Given the description of an element on the screen output the (x, y) to click on. 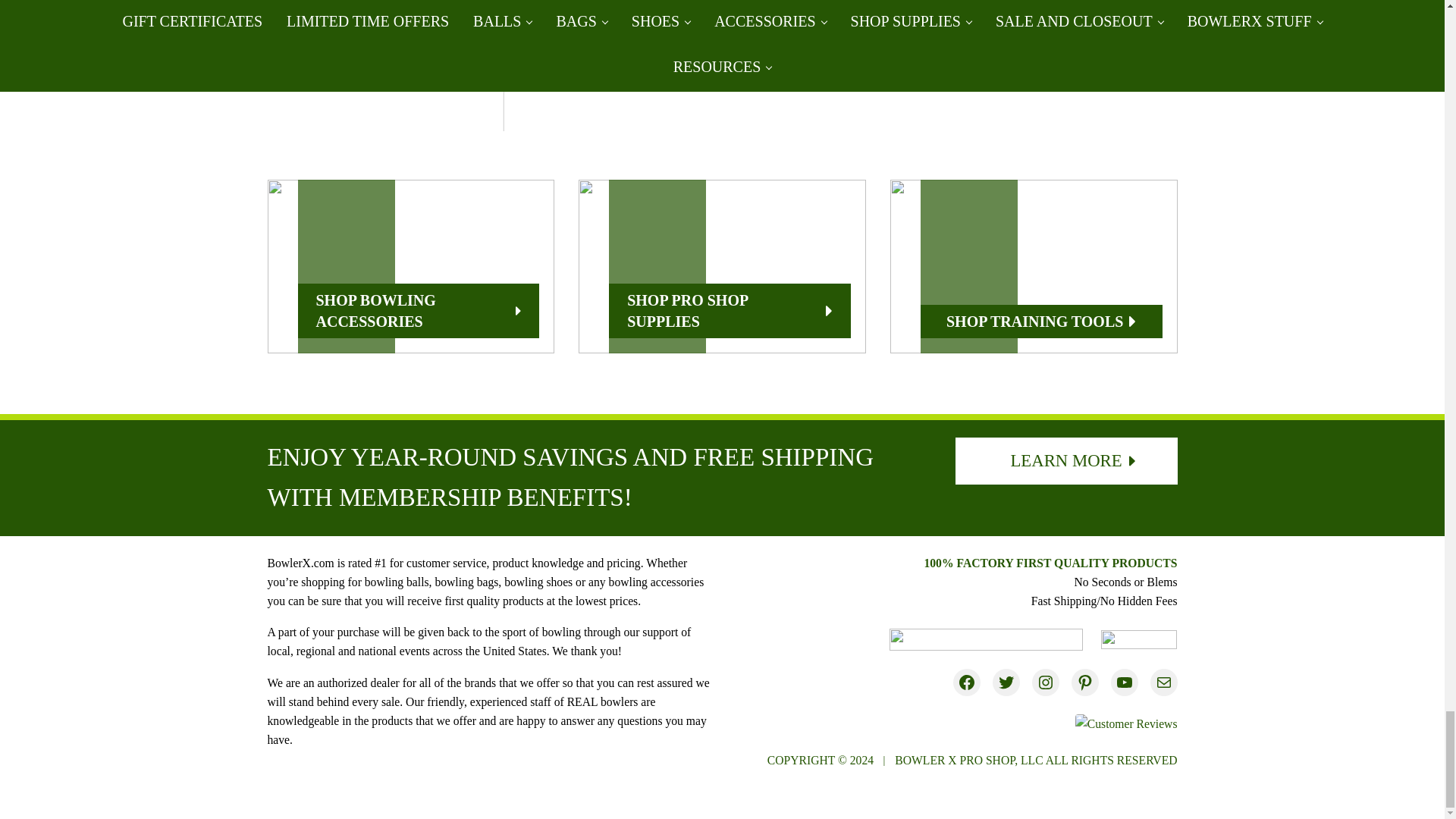
Compare Page (1148, 47)
on (727, 47)
Compare Page (982, 47)
Compare Page (816, 47)
on (1059, 47)
on (562, 47)
on (893, 47)
Compare Page (650, 47)
